Given the description of an element on the screen output the (x, y) to click on. 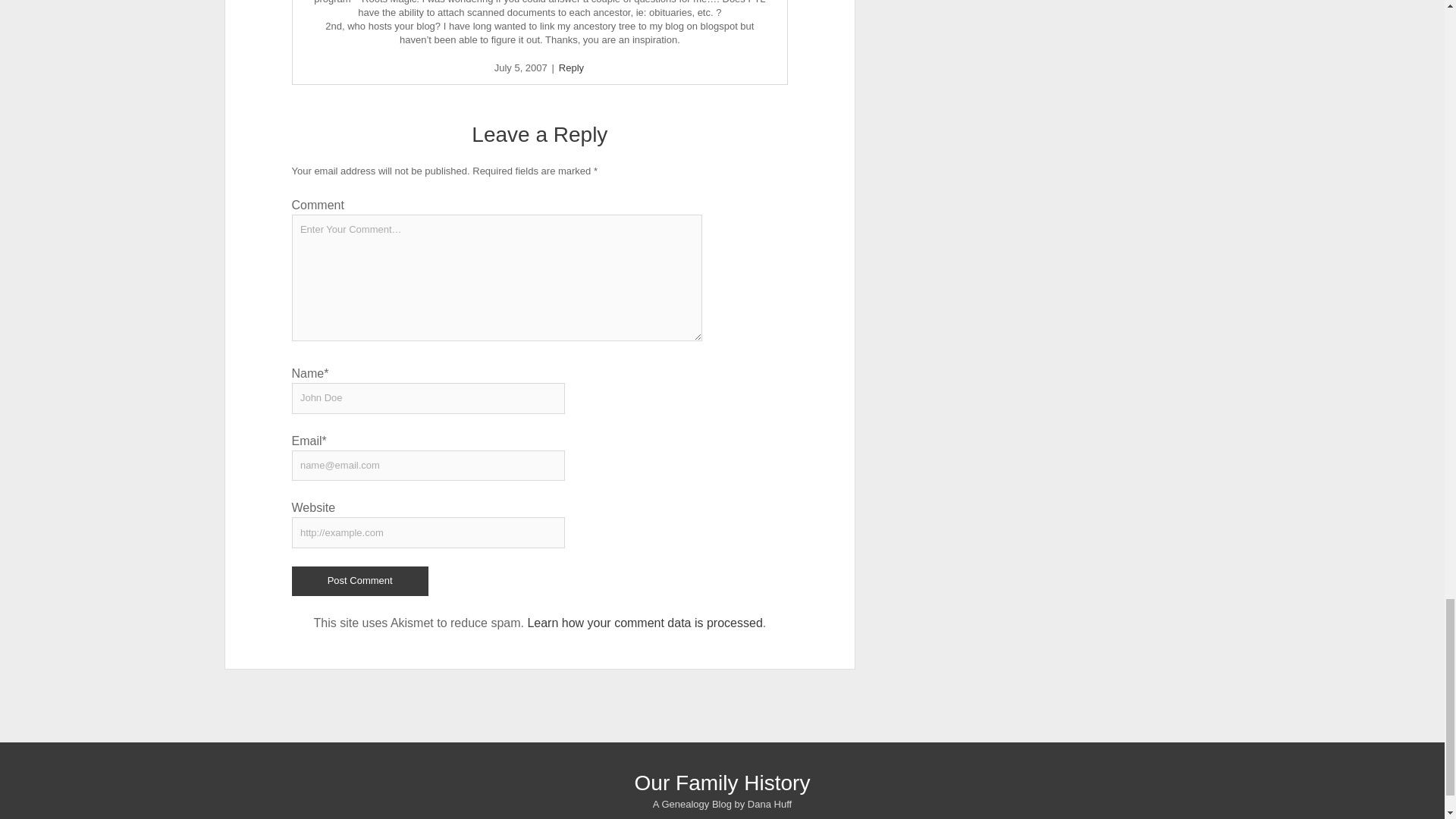
Post Comment (360, 581)
